Given the description of an element on the screen output the (x, y) to click on. 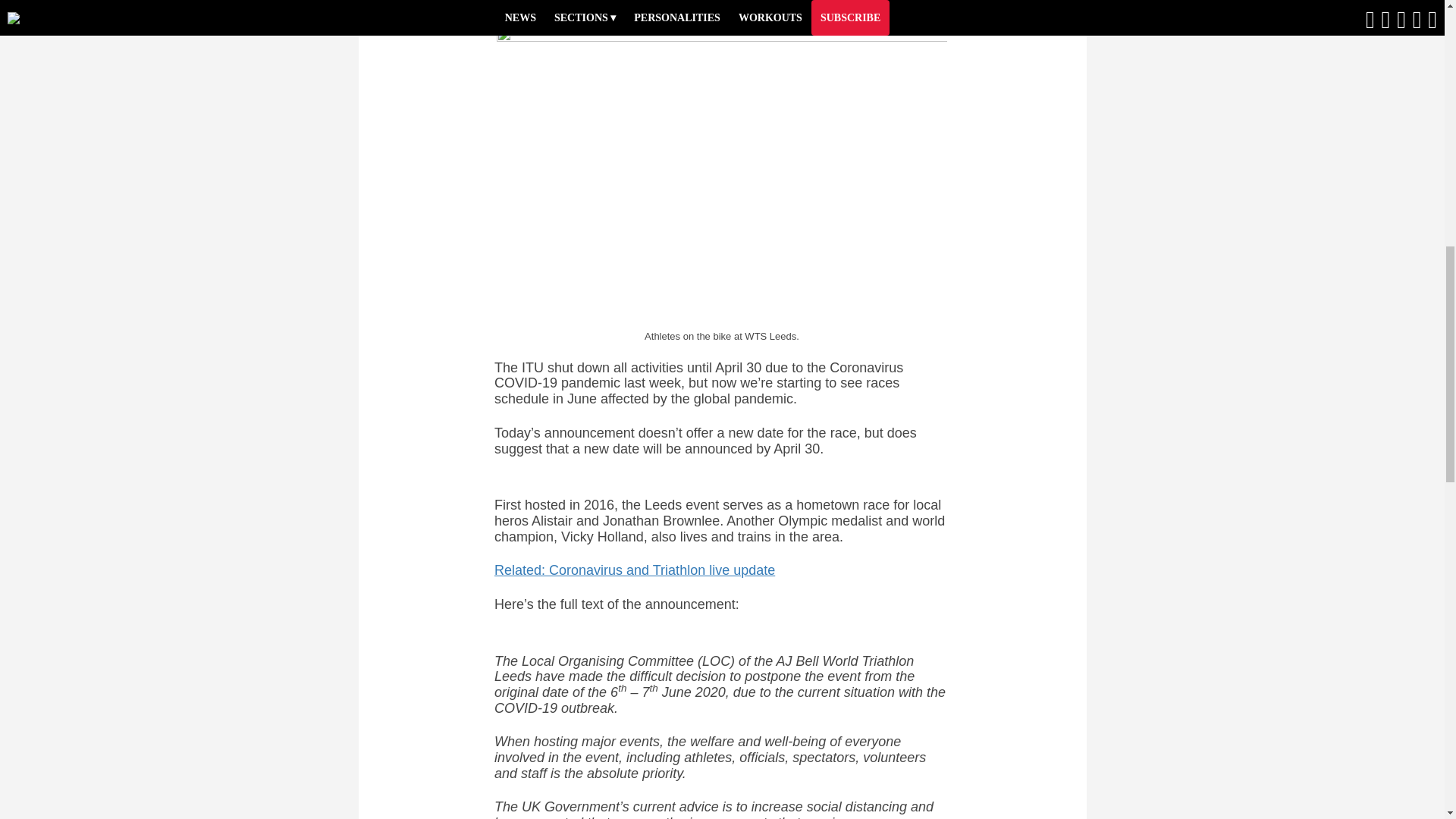
Related: Coronavirus and Triathlon live update (634, 570)
